Given the description of an element on the screen output the (x, y) to click on. 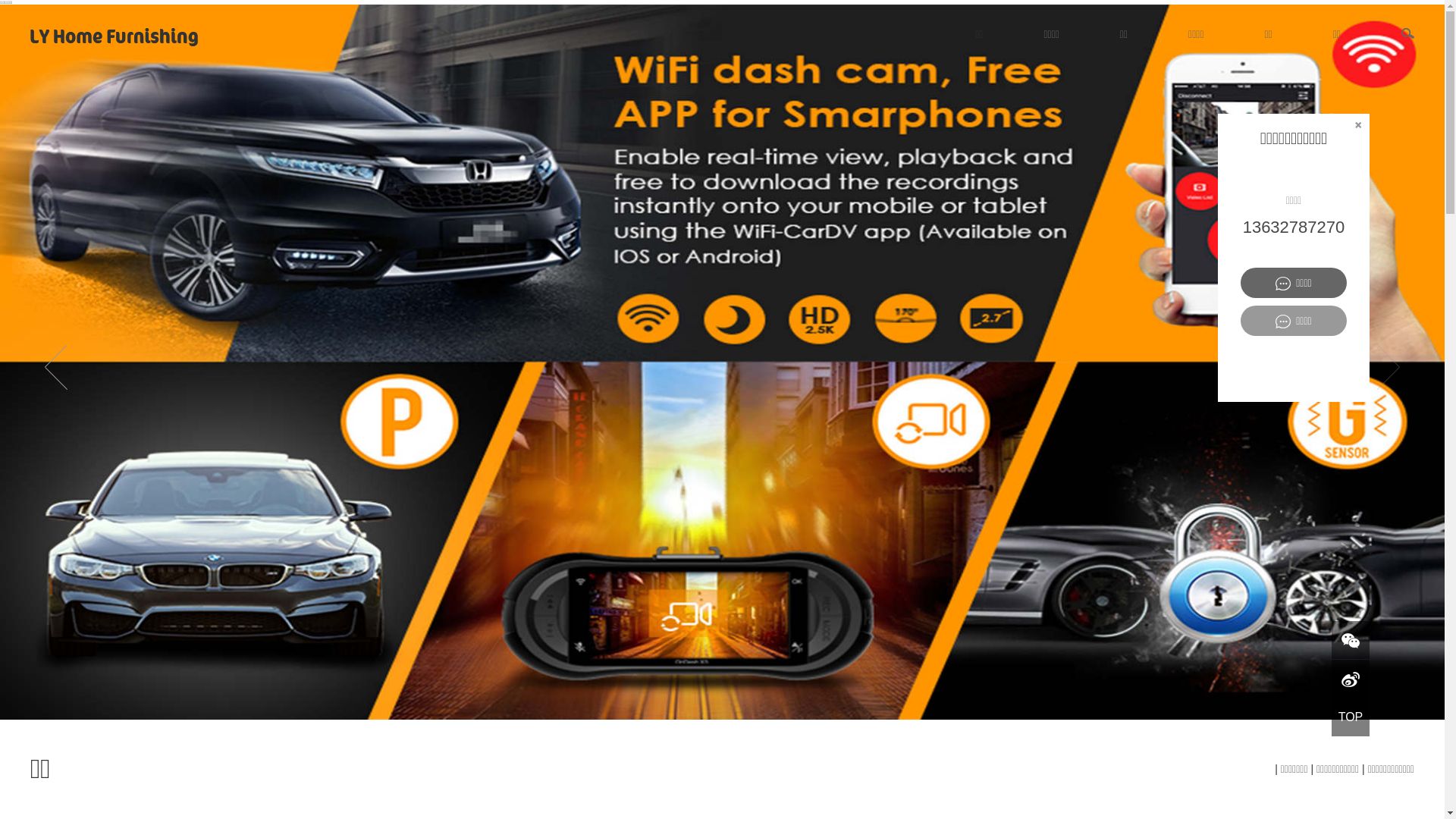
TOP Element type: text (1350, 717)
